Given the description of an element on the screen output the (x, y) to click on. 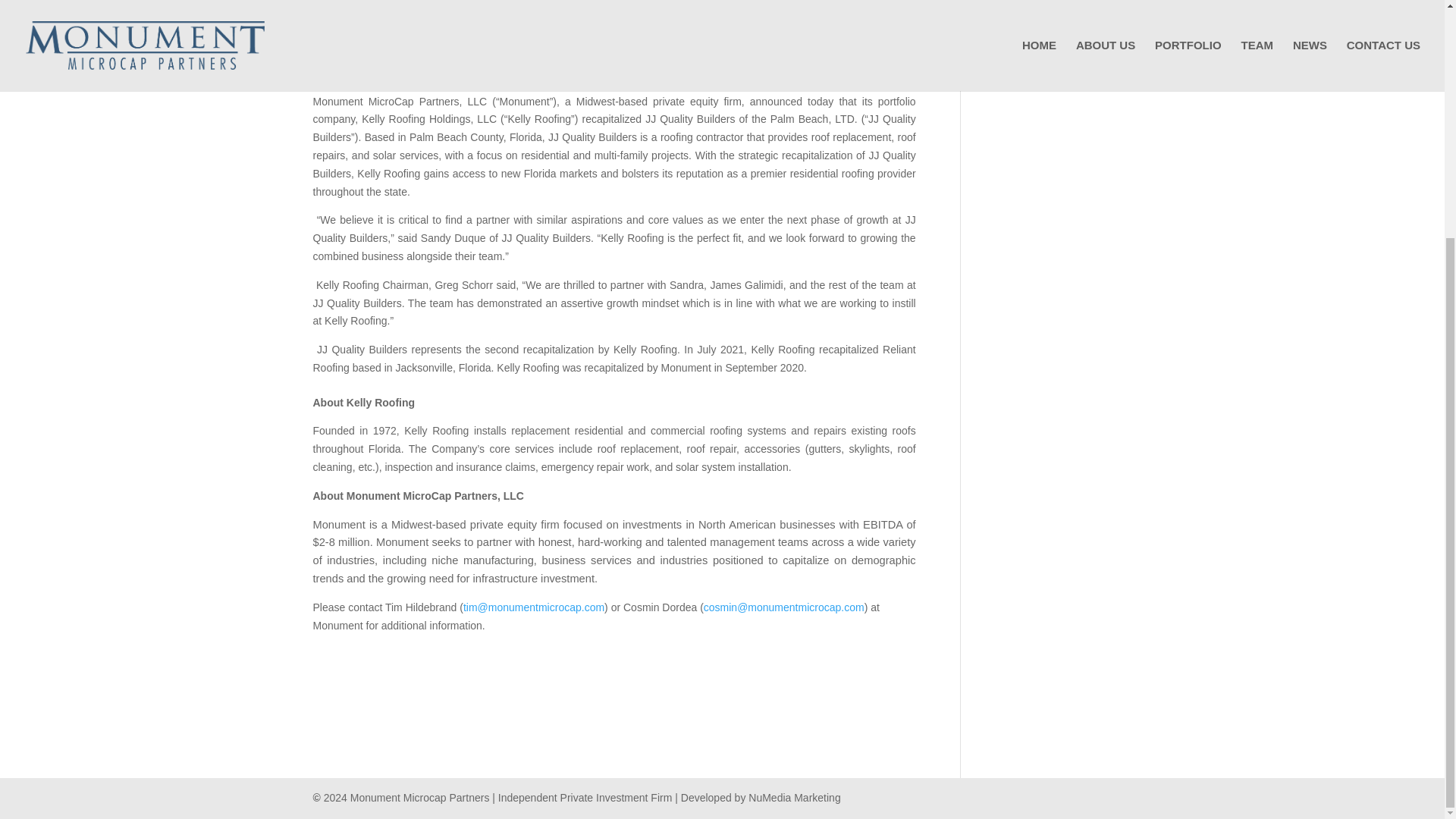
Holly (338, 7)
0 comments (535, 7)
NuMedia Marketing (794, 797)
Uncategorized (464, 7)
Posts by Holly (338, 7)
NuMedia Marketing, Inc. (794, 797)
